Given the description of an element on the screen output the (x, y) to click on. 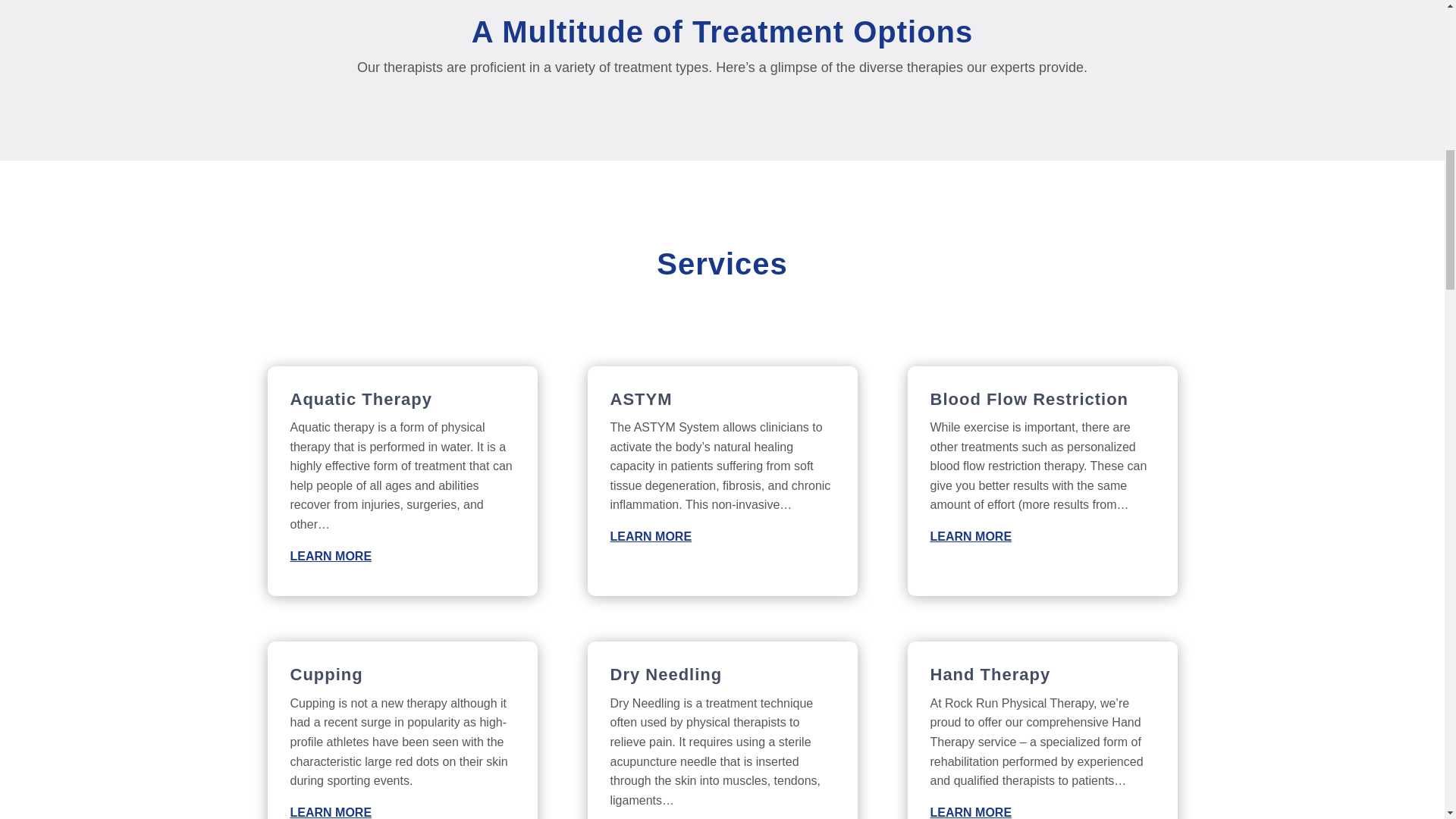
homepage-1 (721, 319)
